Given the description of an element on the screen output the (x, y) to click on. 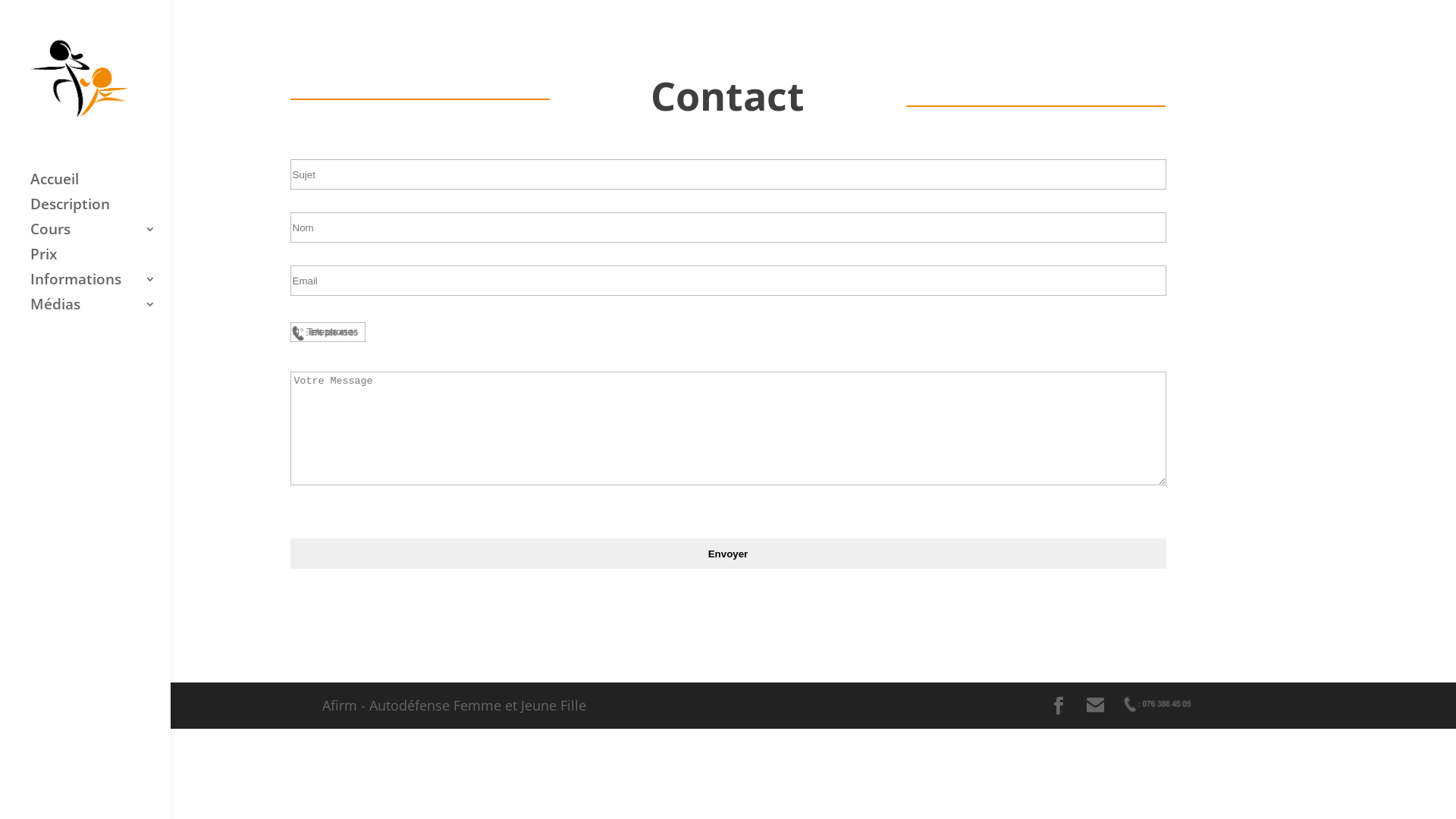
Accueil Element type: text (100, 185)
Informations Element type: text (100, 285)
Envoyer Element type: text (727, 553)
Prix Element type: text (100, 260)
Cours Element type: text (100, 235)
Description Element type: text (100, 210)
